Given the description of an element on the screen output the (x, y) to click on. 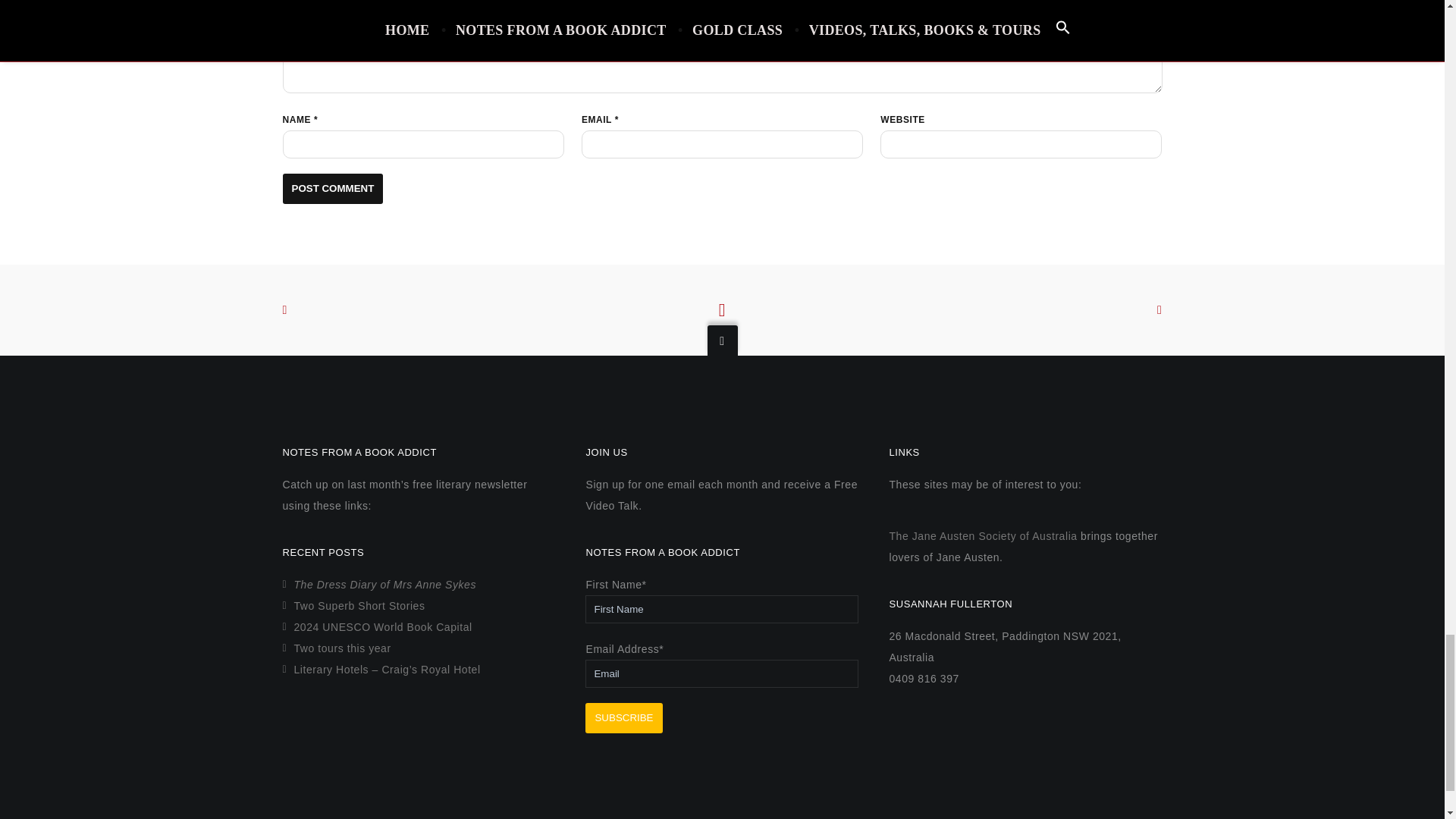
Post Comment (332, 187)
Subscribe (623, 717)
